Given the description of an element on the screen output the (x, y) to click on. 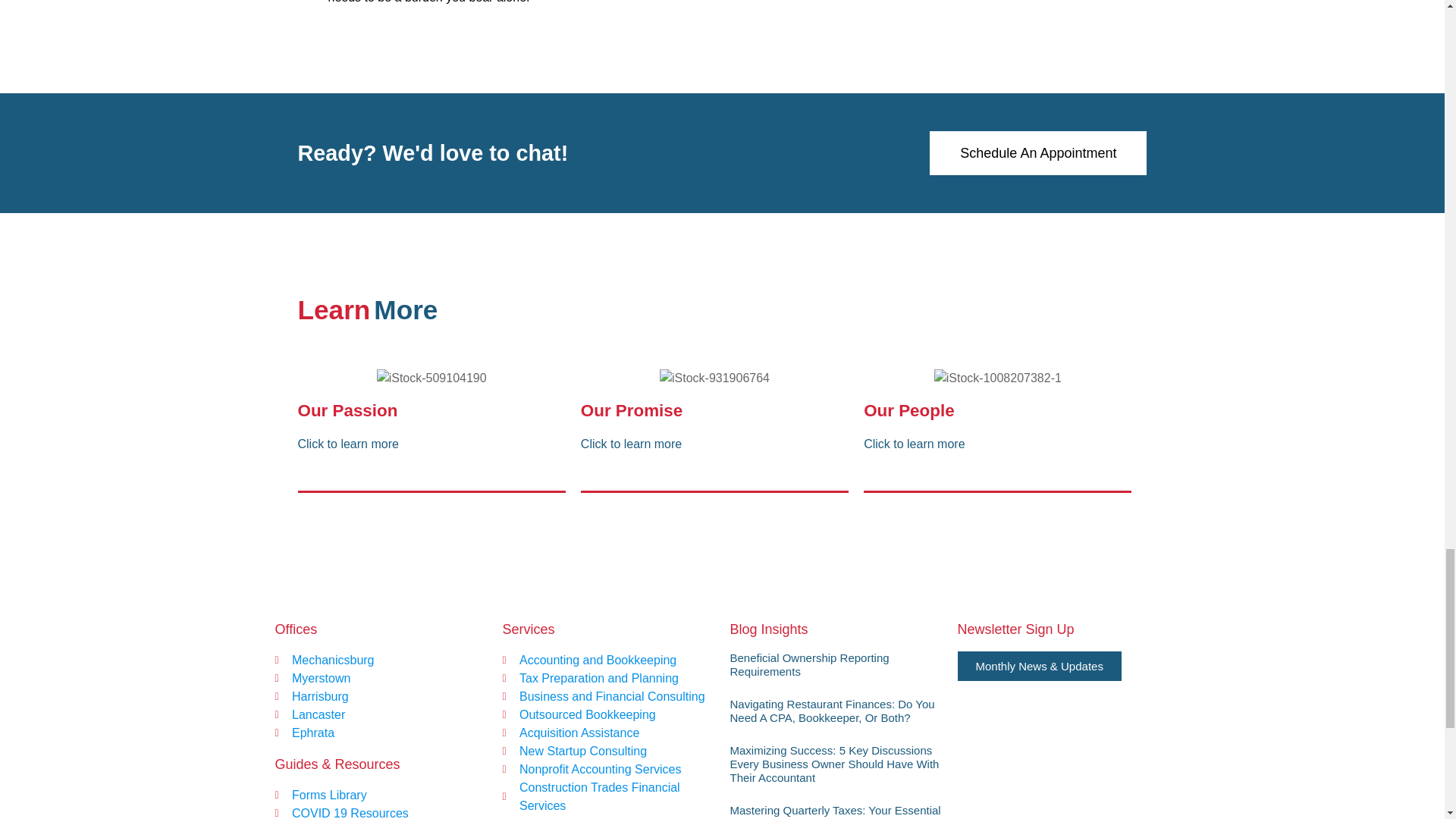
iStock-1008207382-1 (997, 378)
iStock-931906764 (714, 378)
iStock-509104190 (431, 378)
